Given the description of an element on the screen output the (x, y) to click on. 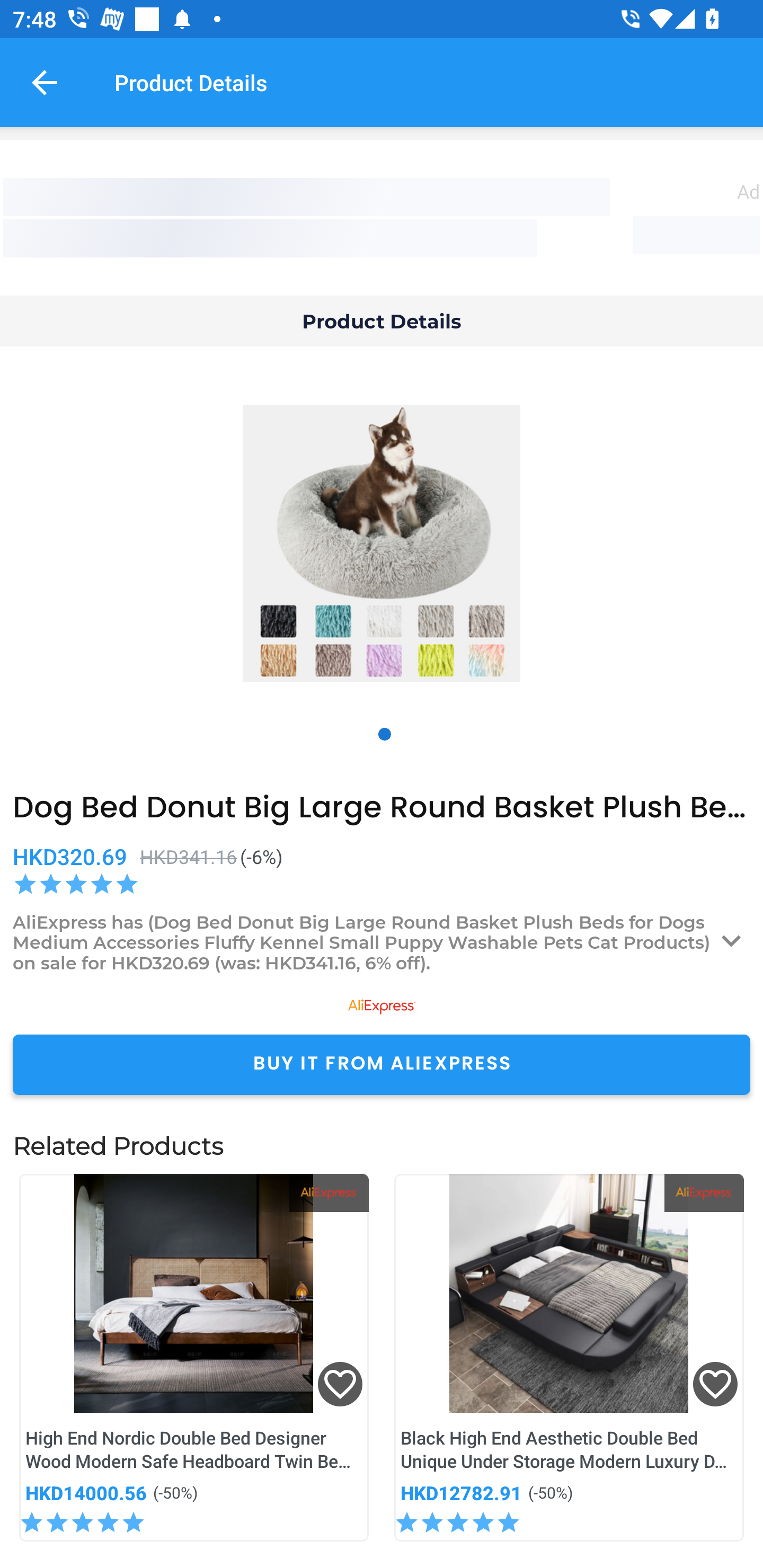
Navigate up (44, 82)
BUY IT FROM ALIEXPRESS (381, 1064)
